Given the description of an element on the screen output the (x, y) to click on. 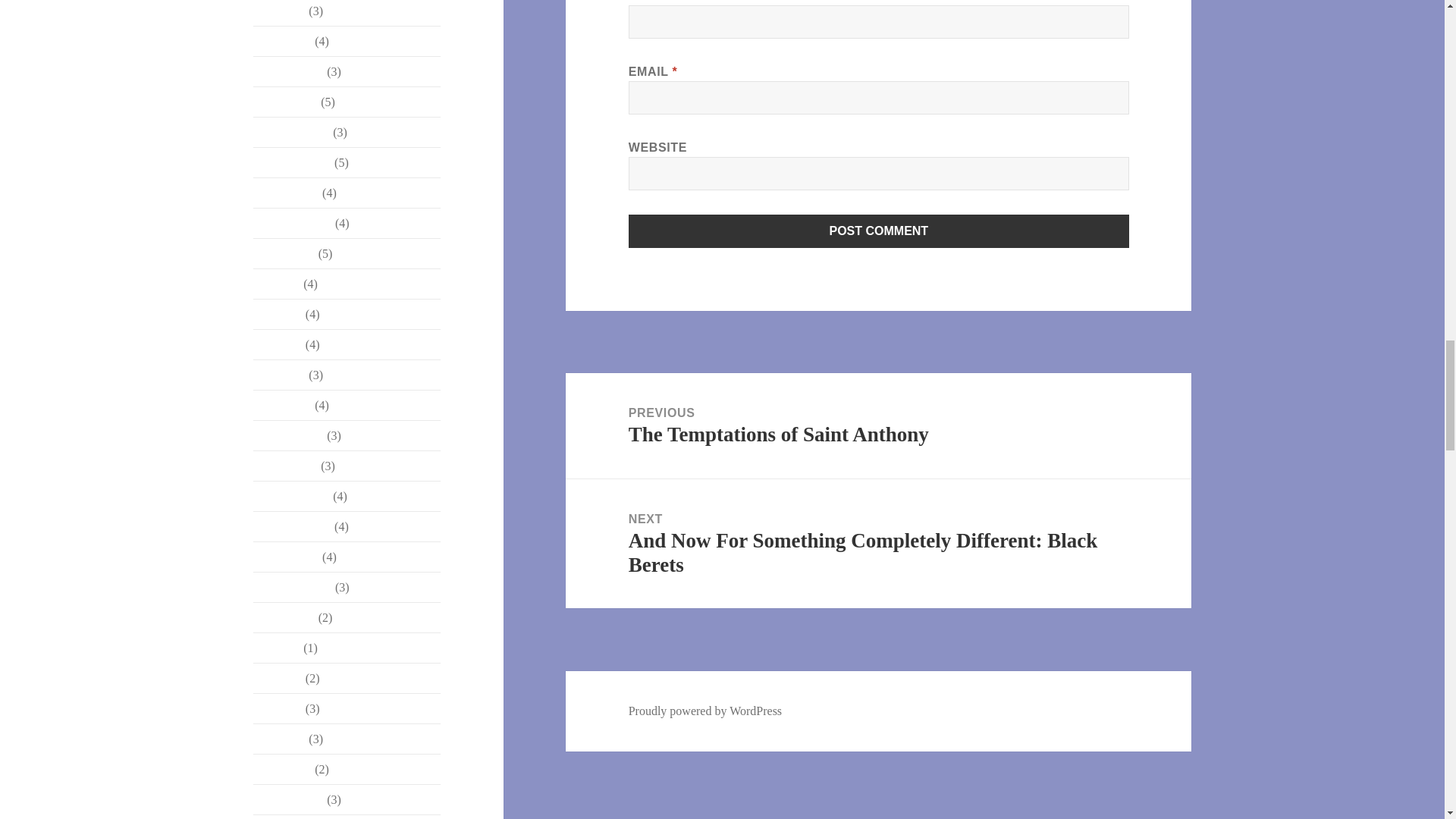
Post Comment (878, 231)
